Given the description of an element on the screen output the (x, y) to click on. 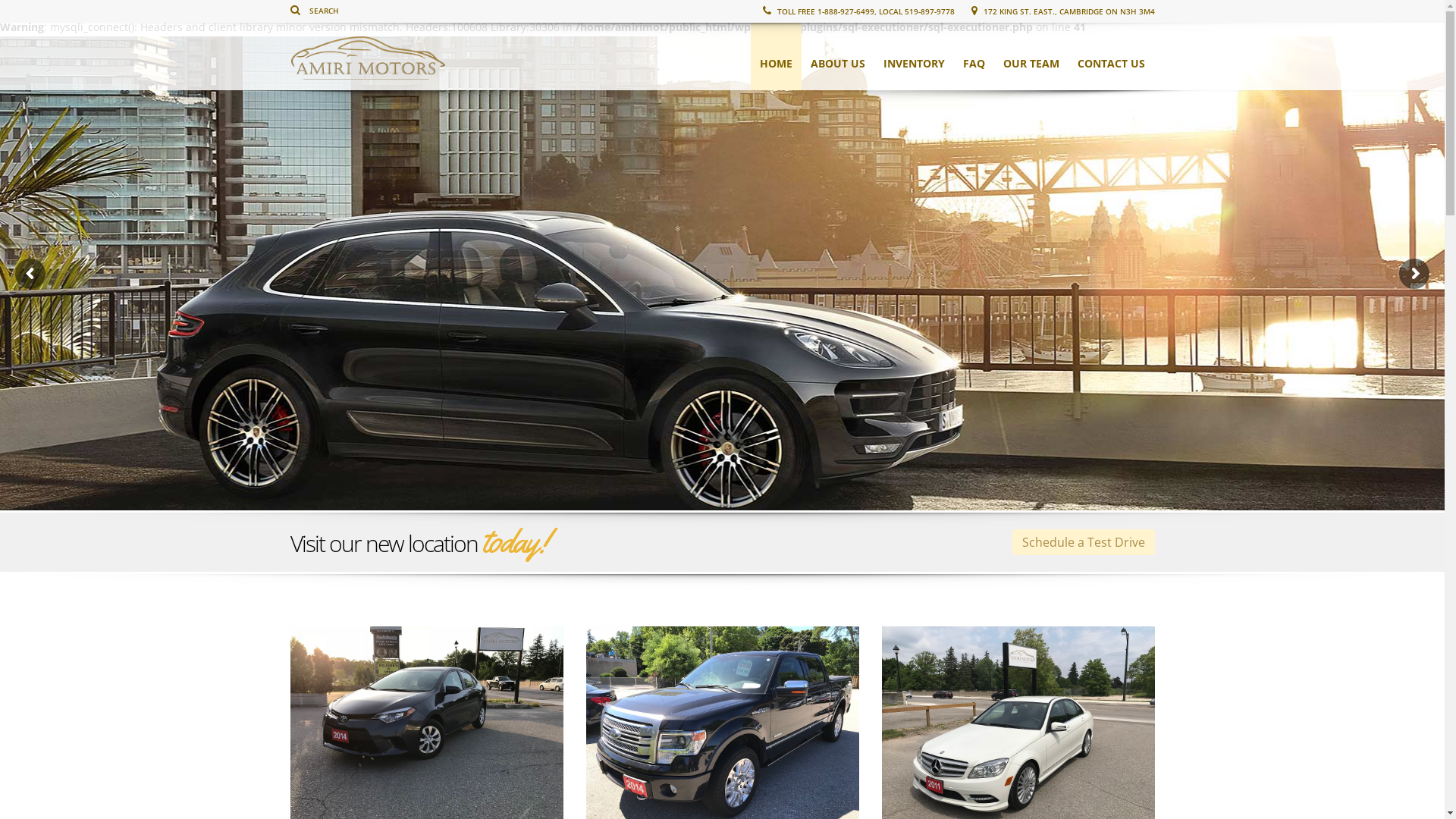
ABOUT US Element type: text (836, 56)
2014 Ford F-150 Element type: text (721, 692)
172 KING ST. EAST., CAMBRIDGE ON N3H 3M4 Element type: text (1062, 11)
TOLL FREE 1-888-927-6499, LOCAL 519-897-9778 Element type: text (858, 11)
2011 Mercedes-Benz C250 Element type: text (1017, 711)
OUR TEAM Element type: text (1030, 56)
HOME Element type: text (775, 56)
Schedule a Test Drive Element type: text (1082, 542)
FAQ Element type: text (973, 56)
2014 Corolla CE Element type: text (425, 692)
CONTACT US Element type: text (1110, 56)
INVENTORY Element type: text (913, 56)
